Given the description of an element on the screen output the (x, y) to click on. 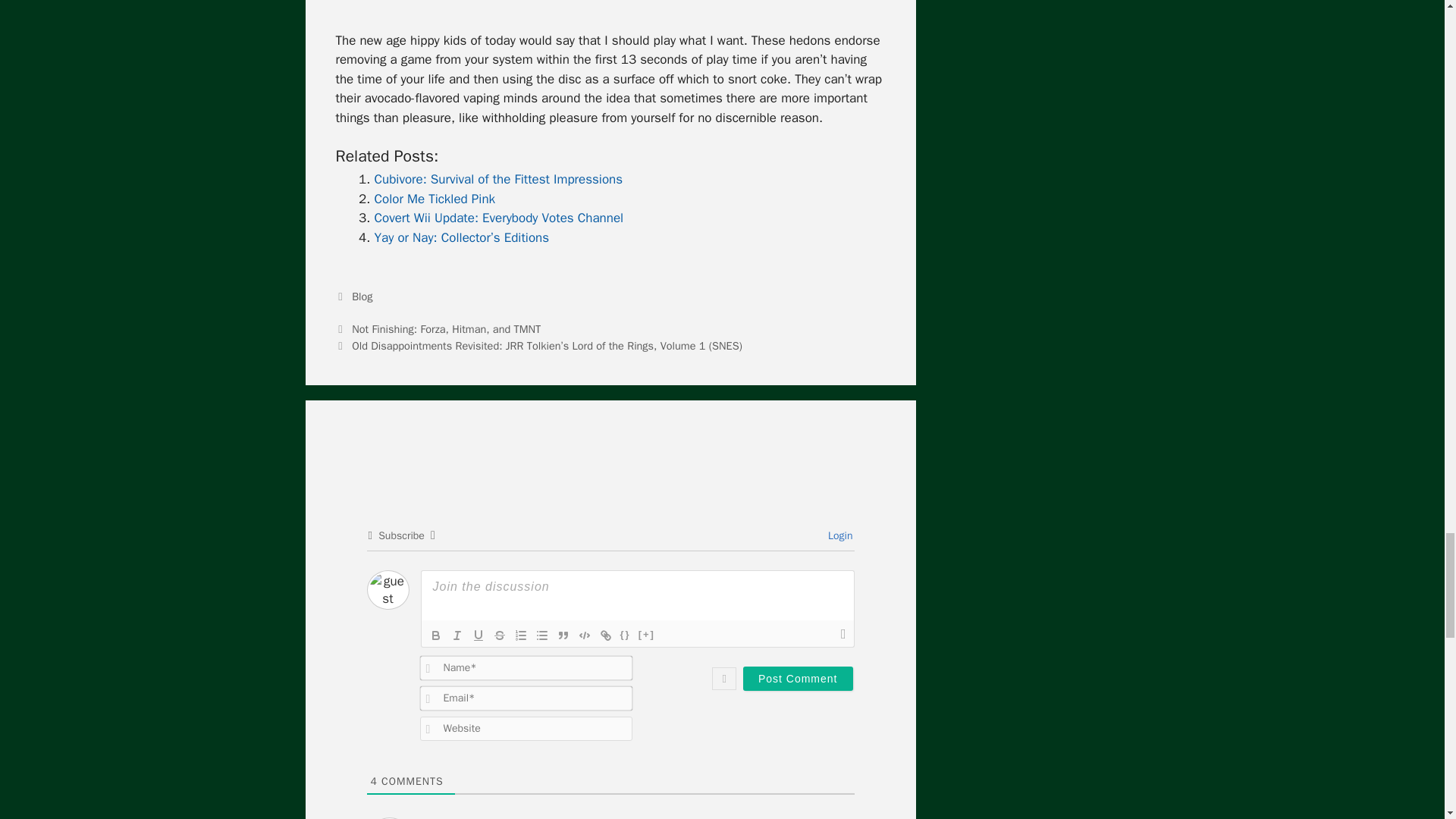
Previous (437, 328)
Not Finishing: Forza, Hitman, and TMNT (446, 328)
Covert Wii Update: Everybody Votes Channel (499, 217)
Underline (477, 635)
Cubivore: Survival of the Fittest Impressions (498, 179)
Italic (456, 635)
Post Comment (797, 677)
Cubivore: Survival of the Fittest Impressions (498, 179)
Post Comment (797, 677)
Next (537, 345)
Blog (362, 296)
ordered (520, 635)
Color Me Tickled Pink (435, 198)
bullet (541, 635)
Covert Wii Update: Everybody Votes Channel (499, 217)
